Given the description of an element on the screen output the (x, y) to click on. 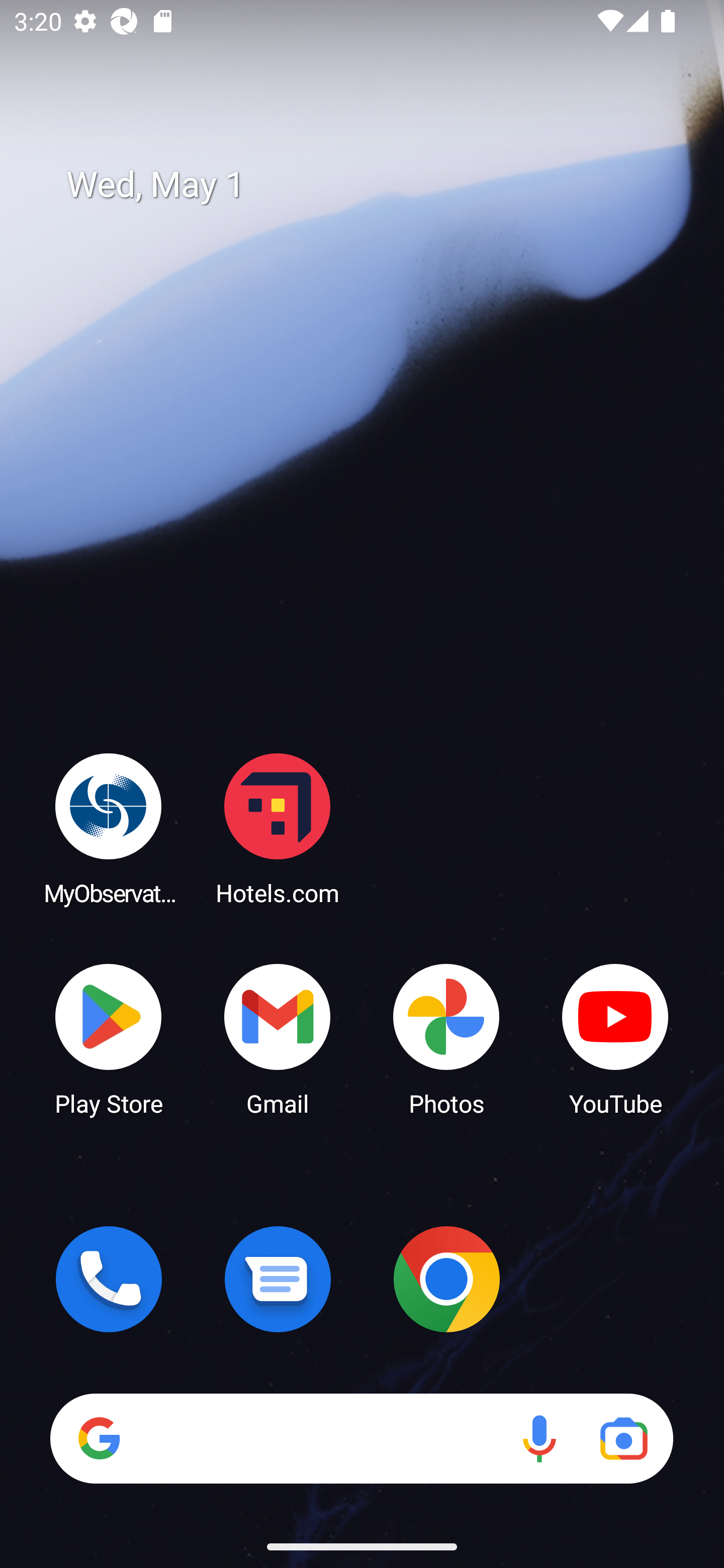
Wed, May 1 (375, 184)
MyObservatory (108, 828)
Hotels.com (277, 828)
Play Store (108, 1038)
Gmail (277, 1038)
Photos (445, 1038)
YouTube (615, 1038)
Phone (108, 1279)
Messages (277, 1279)
Chrome (446, 1279)
Search Voice search Google Lens (361, 1438)
Voice search (539, 1438)
Google Lens (623, 1438)
